Given the description of an element on the screen output the (x, y) to click on. 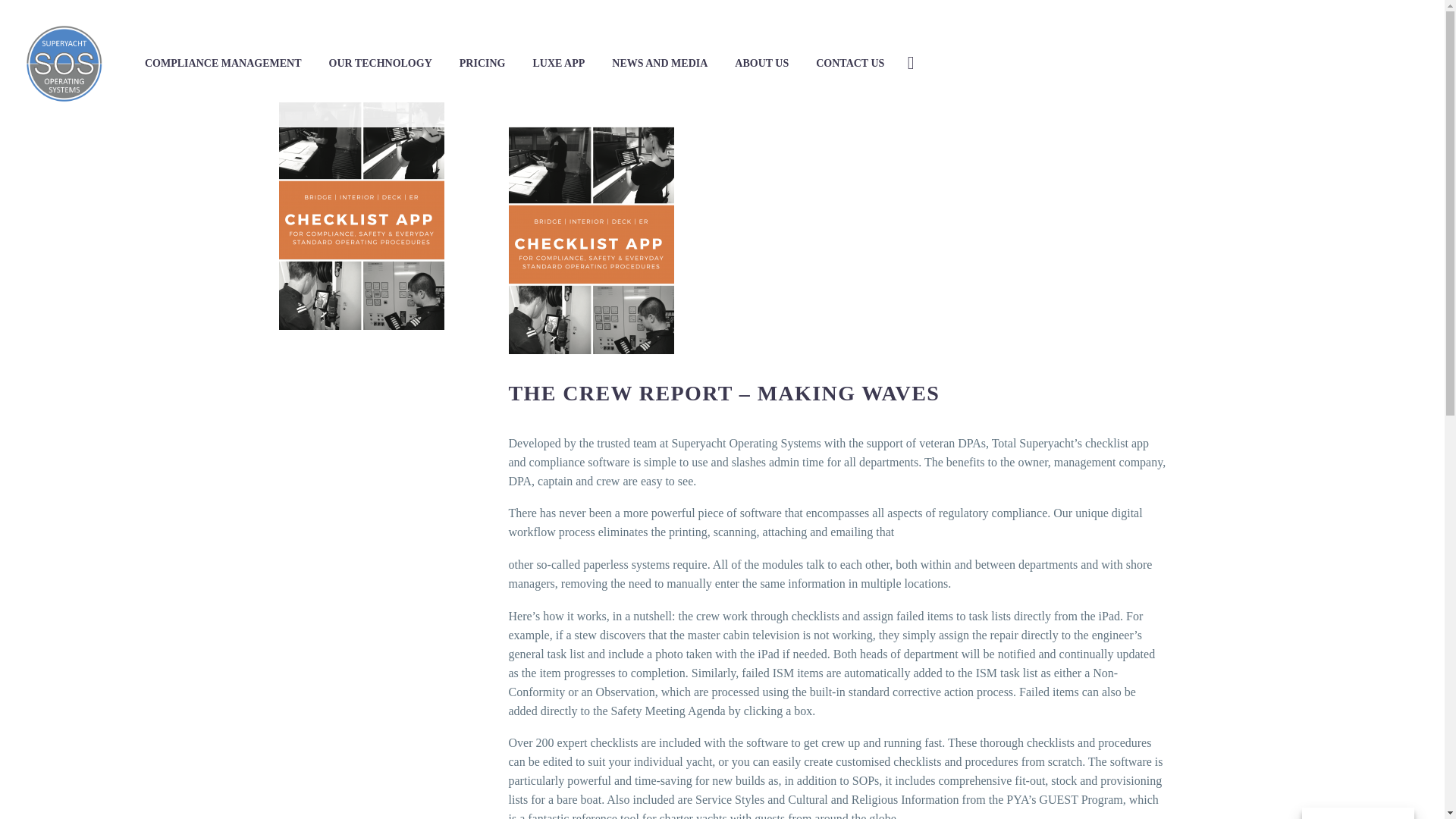
Page 1 (837, 776)
COMPLIANCE MANAGEMENT (223, 63)
ABOUT US (761, 63)
s (1063, 143)
LUXE APP (558, 63)
OUR TECHNOLOGY (379, 63)
PRICING (482, 63)
NEWS AND MEDIA (659, 63)
CONTACT US (850, 63)
